Given the description of an element on the screen output the (x, y) to click on. 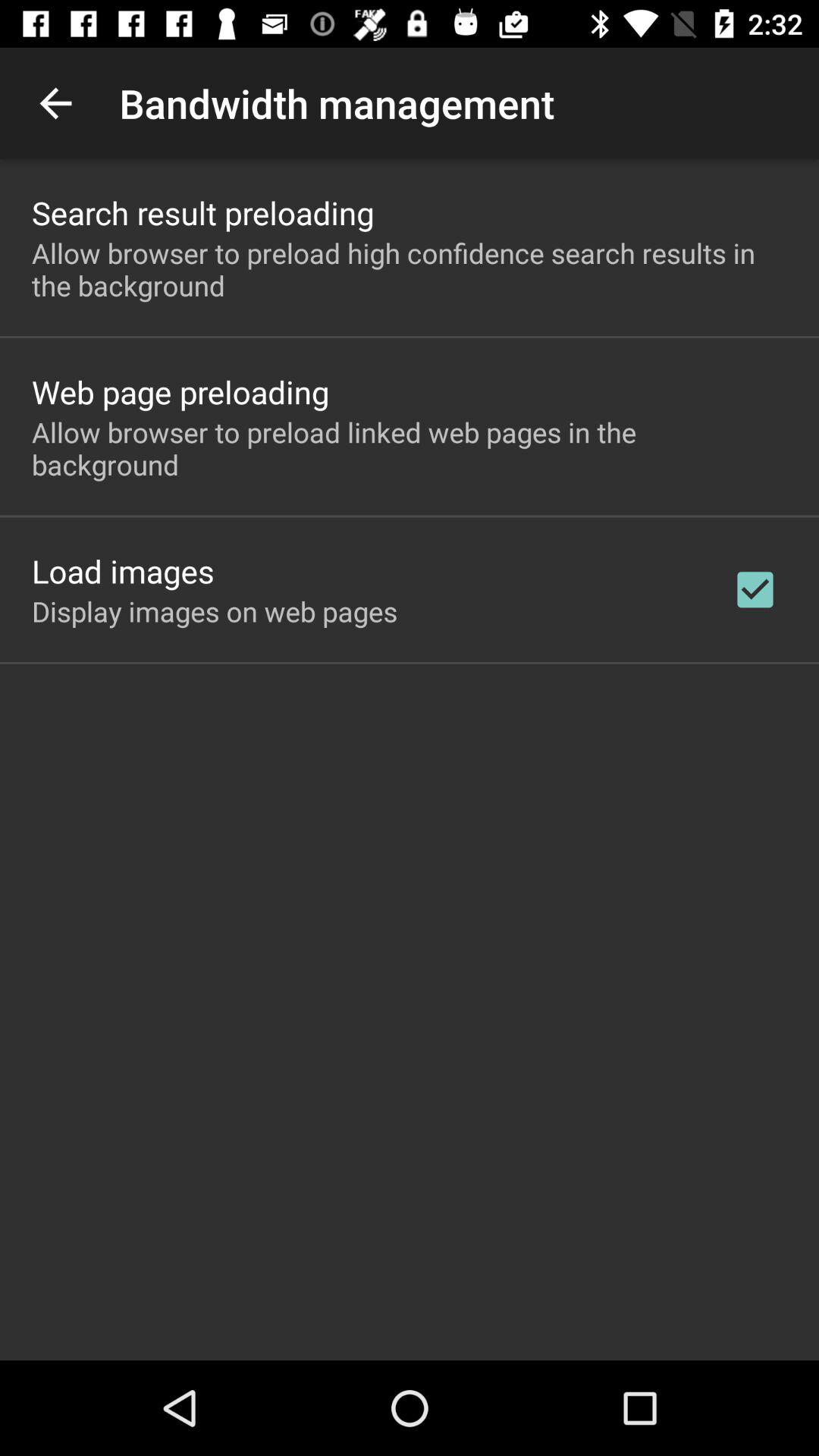
select icon below the load images app (214, 611)
